Given the description of an element on the screen output the (x, y) to click on. 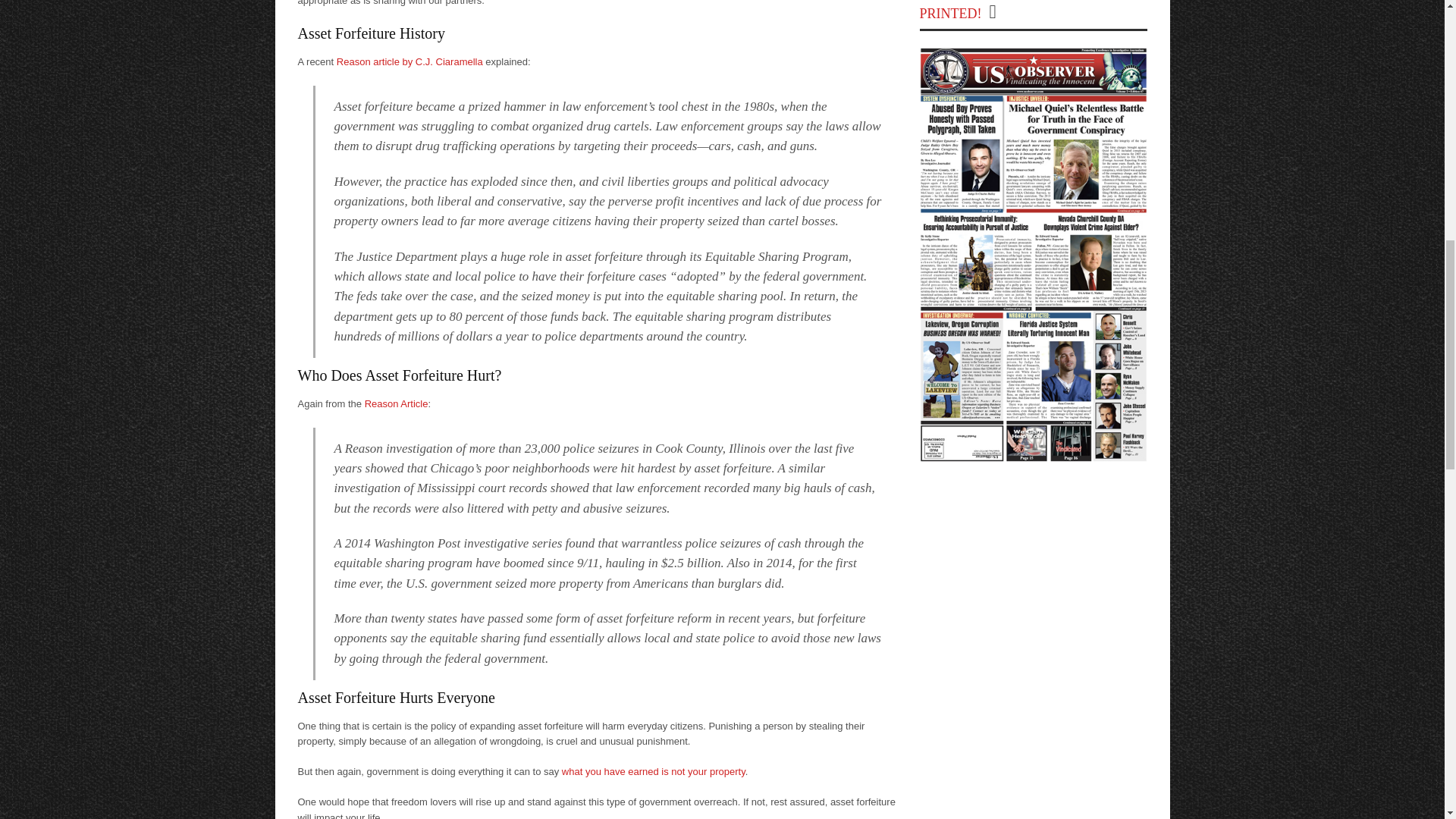
what you have earned is not your property (653, 771)
Reason Article (396, 403)
Reason article by C.J. Ciaramella (409, 61)
